Given the description of an element on the screen output the (x, y) to click on. 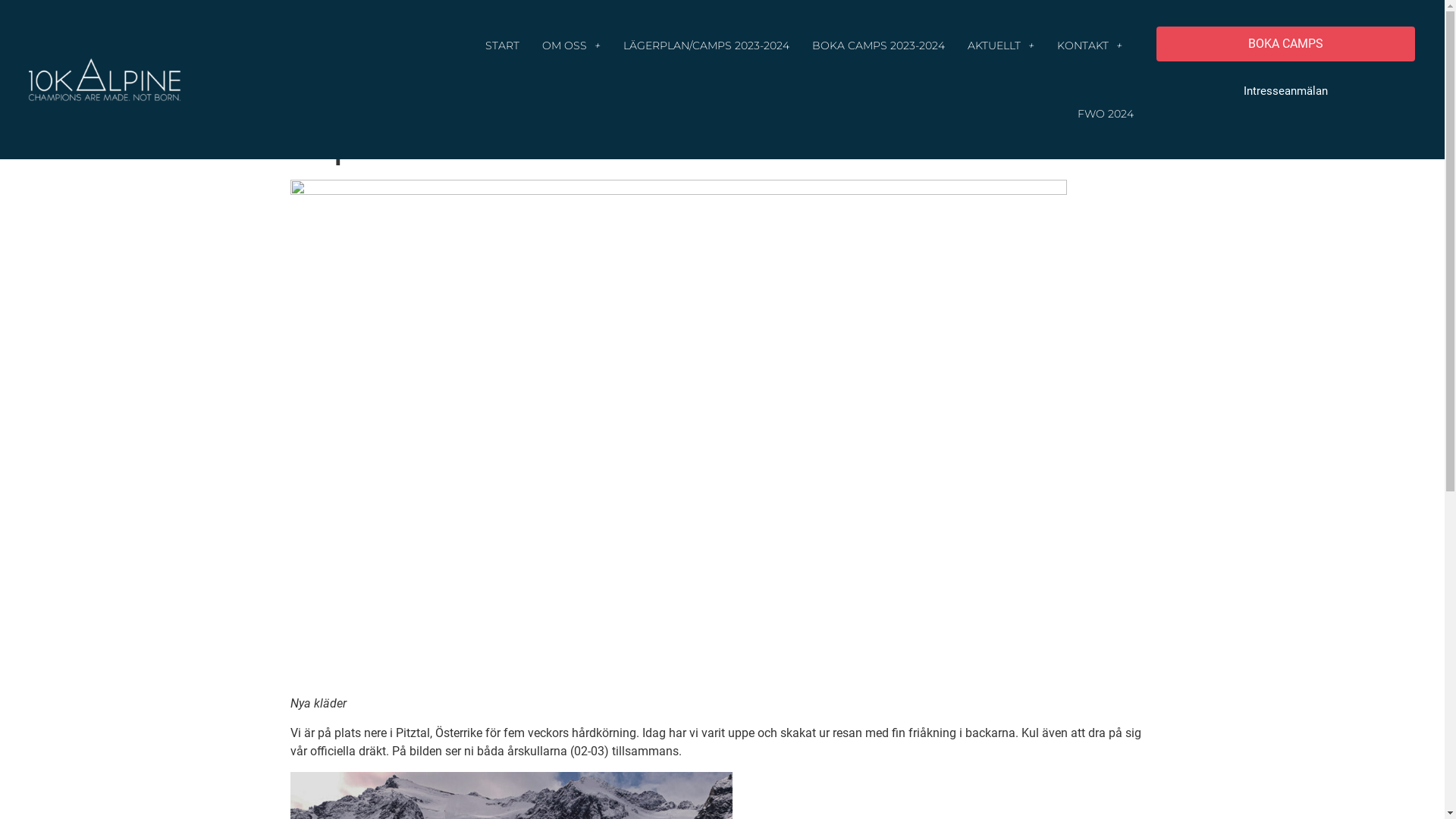
FWO 2024 Element type: text (1105, 113)
AKTUELLT Element type: text (1000, 45)
BOKA CAMPS 2023-2024 Element type: text (878, 45)
KONTAKT Element type: text (1089, 45)
START Element type: text (502, 45)
BOKA CAMPS Element type: text (1285, 43)
OM OSS Element type: text (571, 45)
